Given the description of an element on the screen output the (x, y) to click on. 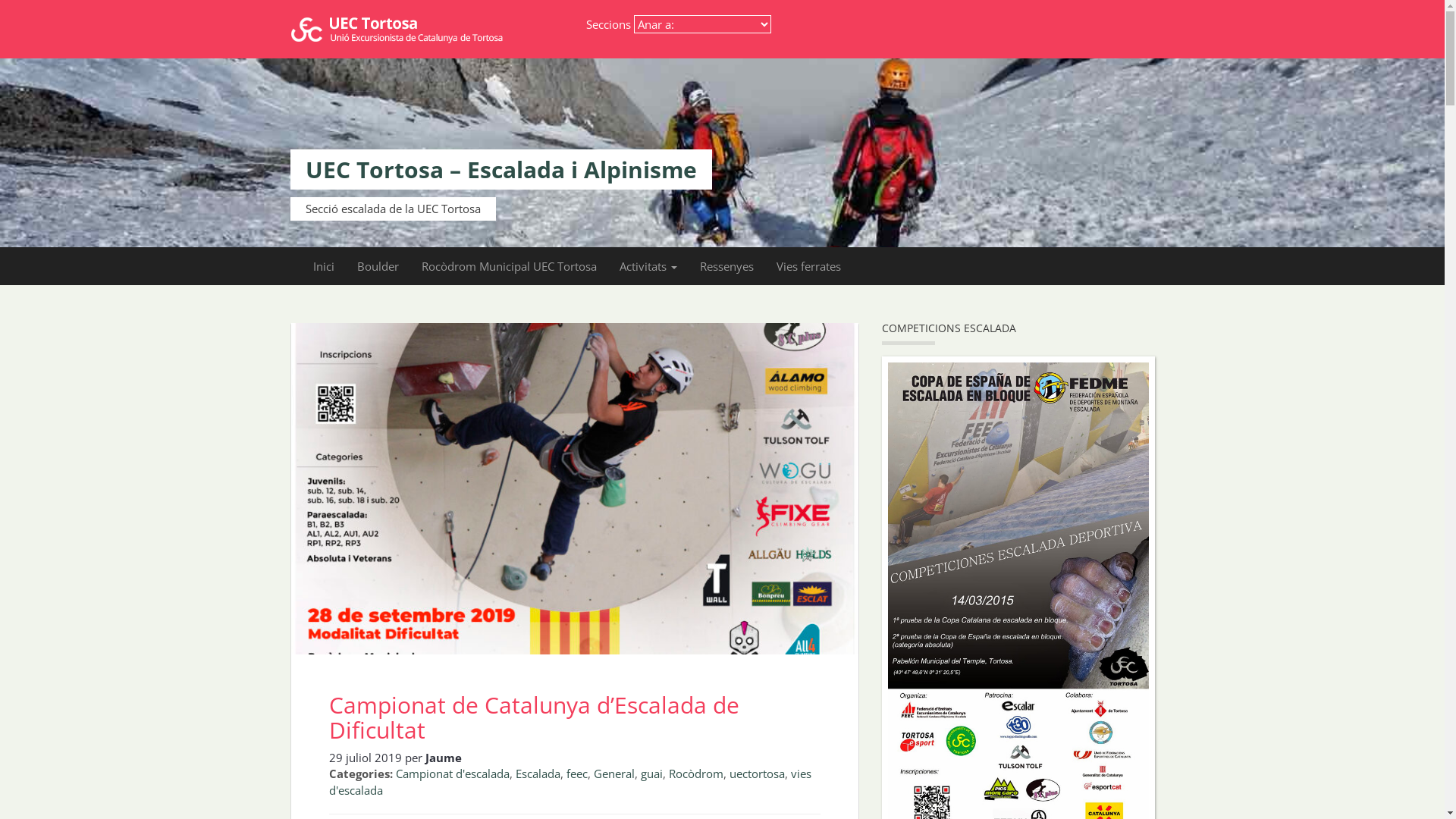
General Element type: text (613, 773)
Ressenyes Element type: text (726, 266)
uectortosa Element type: text (756, 773)
feec Element type: text (575, 773)
guai Element type: text (651, 773)
Campionat d'escalada Element type: text (452, 773)
Activitats Element type: text (648, 266)
Inici Element type: text (323, 266)
Escalada Element type: text (537, 773)
Boulder Element type: text (377, 266)
Vies ferrates Element type: text (807, 266)
vies d'escalada Element type: text (570, 781)
